Given the description of an element on the screen output the (x, y) to click on. 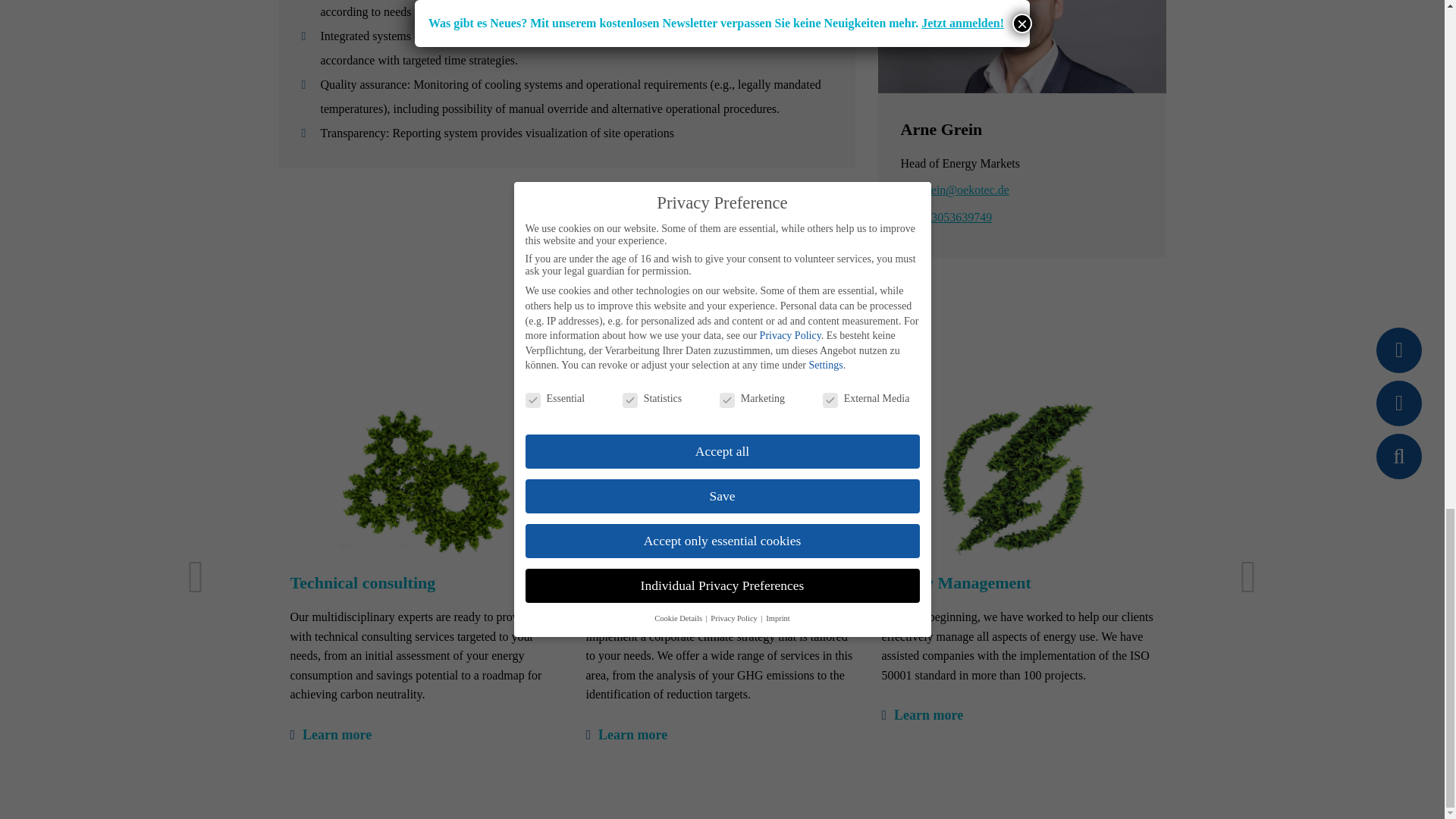
Arne Grein (941, 128)
